Given the description of an element on the screen output the (x, y) to click on. 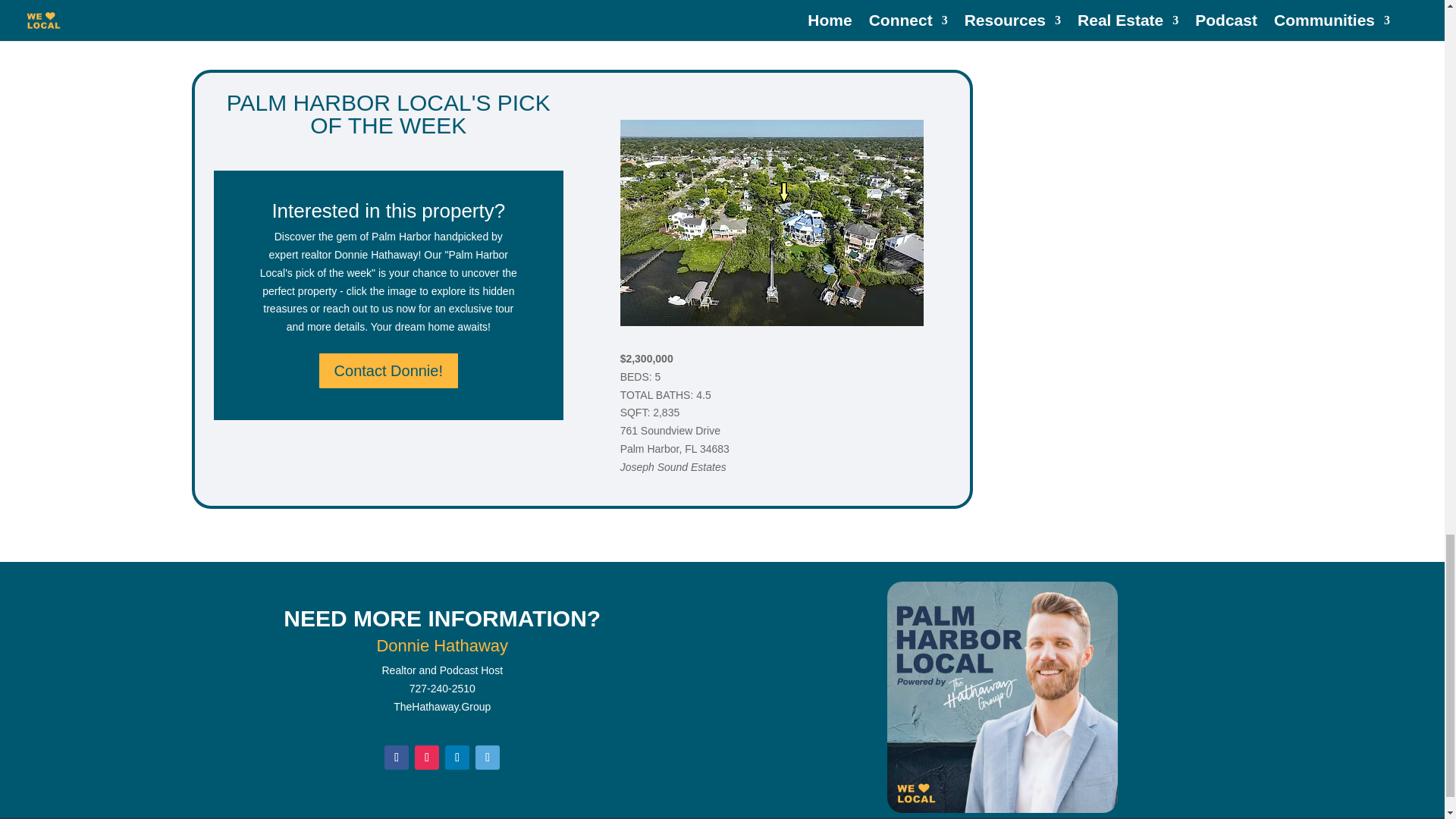
Follow on Instagram (426, 757)
Follow on Facebook (396, 757)
Follow on LinkedIn (456, 757)
Follow on Podcast (487, 757)
